Given the description of an element on the screen output the (x, y) to click on. 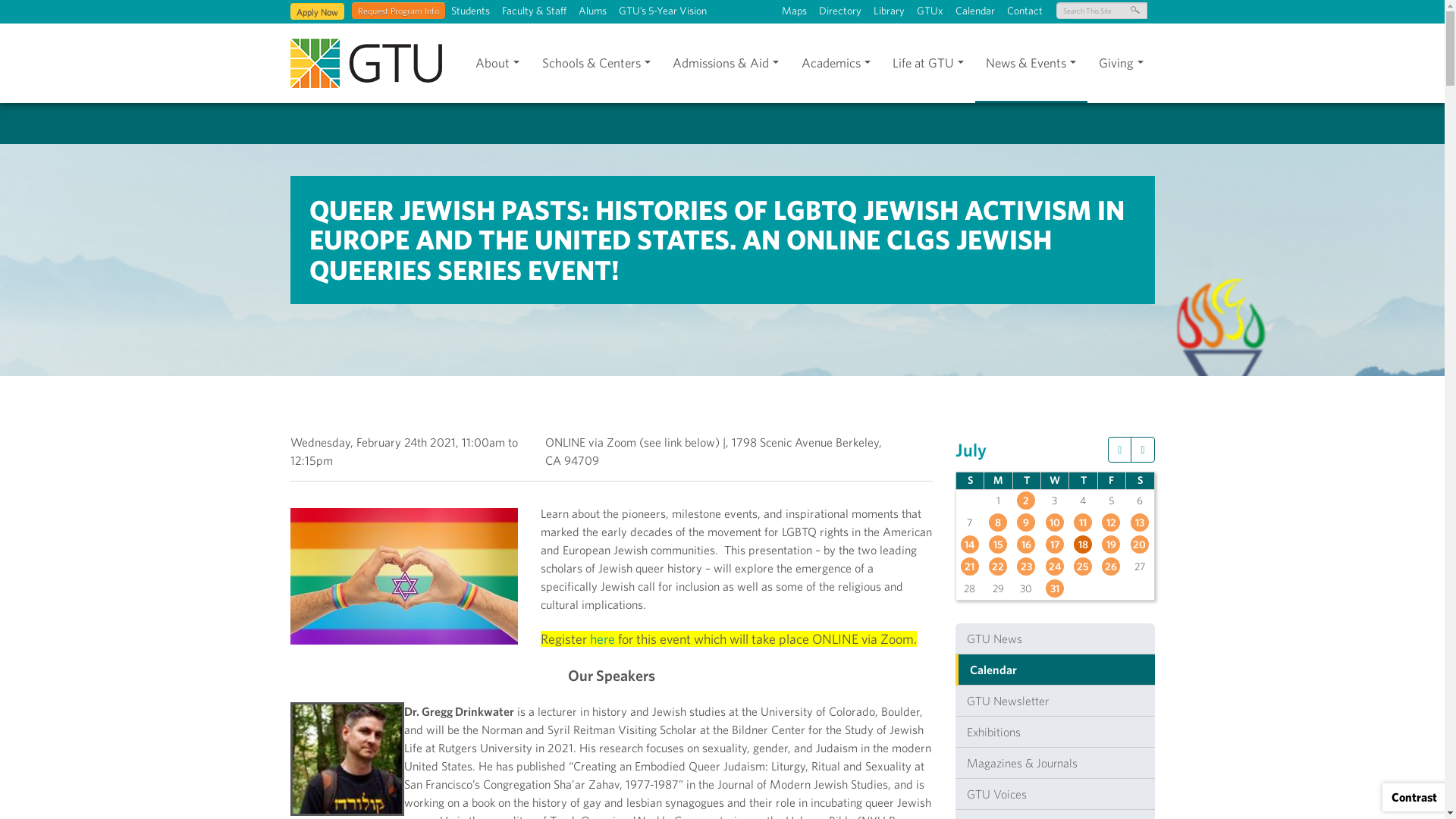
Directory (839, 11)
Search (45, 15)
Navigate to previous month (1119, 449)
Menu for group GTU Alums (591, 11)
Menu for group Life at GTU (927, 63)
Request Program Info (398, 10)
Maps (793, 11)
Home (365, 62)
Students (469, 11)
Enter the terms you wish to search for. (1101, 10)
Menu for group Library (889, 11)
Navigate to next month (1142, 449)
View full page month (971, 449)
Menu for group Academics (835, 63)
GTUx (929, 11)
